Given the description of an element on the screen output the (x, y) to click on. 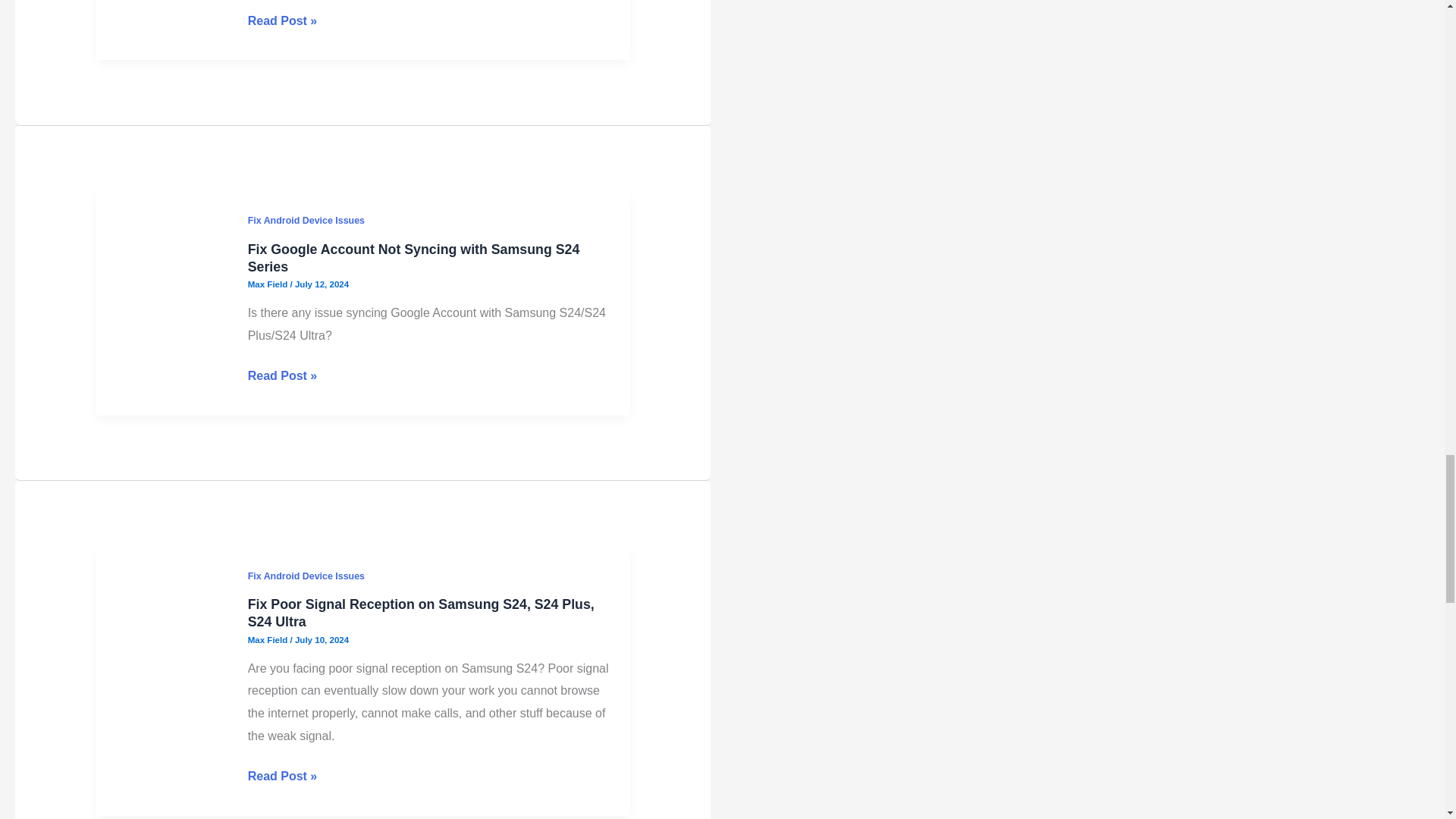
View all posts by Max Field (268, 284)
View all posts by Max Field (268, 639)
